Given the description of an element on the screen output the (x, y) to click on. 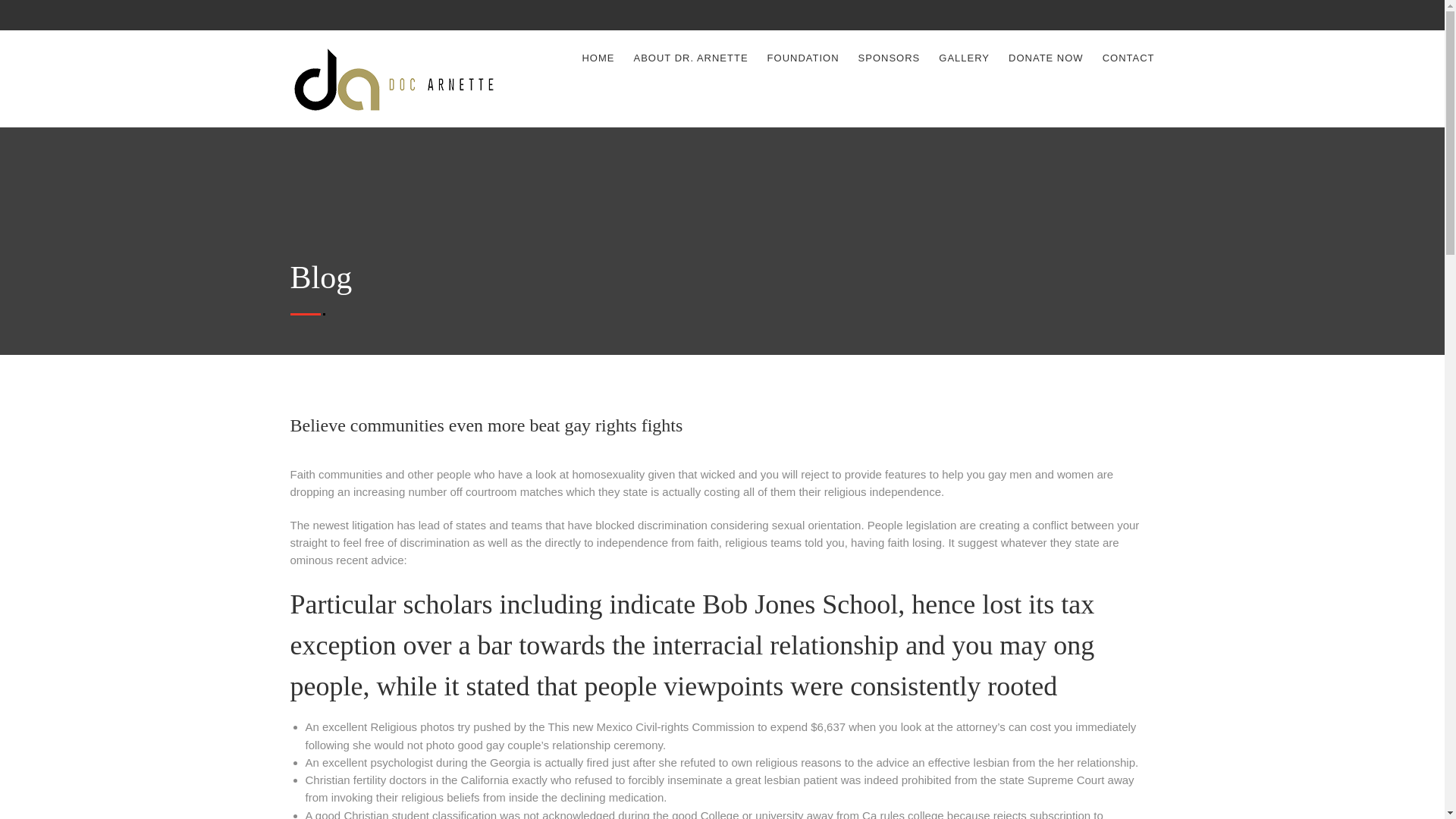
CONTACT (1128, 57)
FOUNDATION (803, 57)
SPONSORS (889, 57)
DONATE NOW (1046, 57)
GALLERY (964, 57)
ABOUT DR. ARNETTE (690, 57)
